Given the description of an element on the screen output the (x, y) to click on. 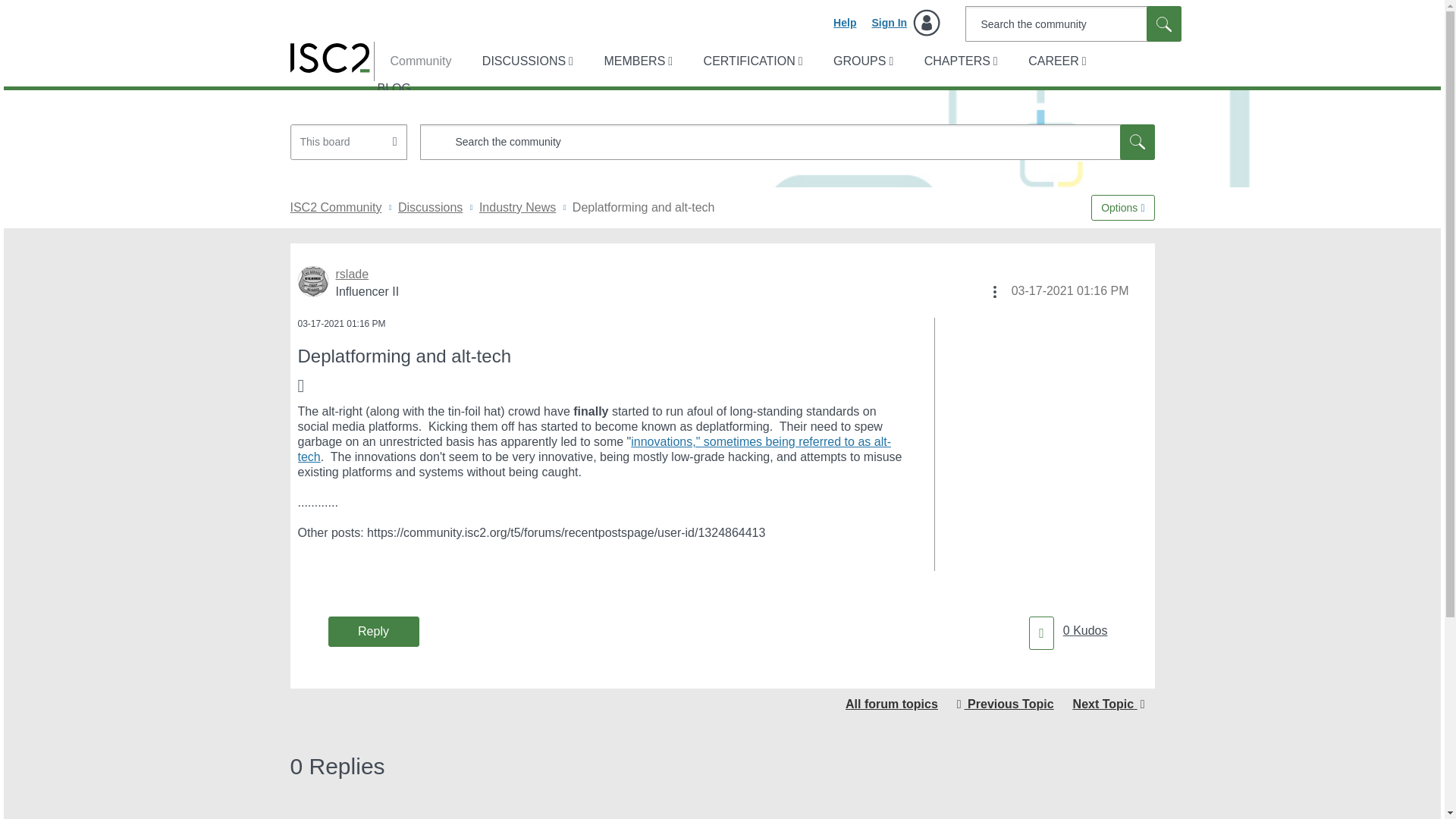
Search (1136, 141)
MEMBERS (635, 61)
Search (1136, 141)
Search (1163, 23)
Search (787, 141)
Help (844, 22)
Search (1071, 23)
Search (1163, 23)
Search (1163, 23)
DISCUSSIONS (526, 61)
CERTIFICATION (751, 61)
GROUPS (861, 61)
Community (412, 61)
Sign In (906, 22)
Search Granularity (348, 141)
